Given the description of an element on the screen output the (x, y) to click on. 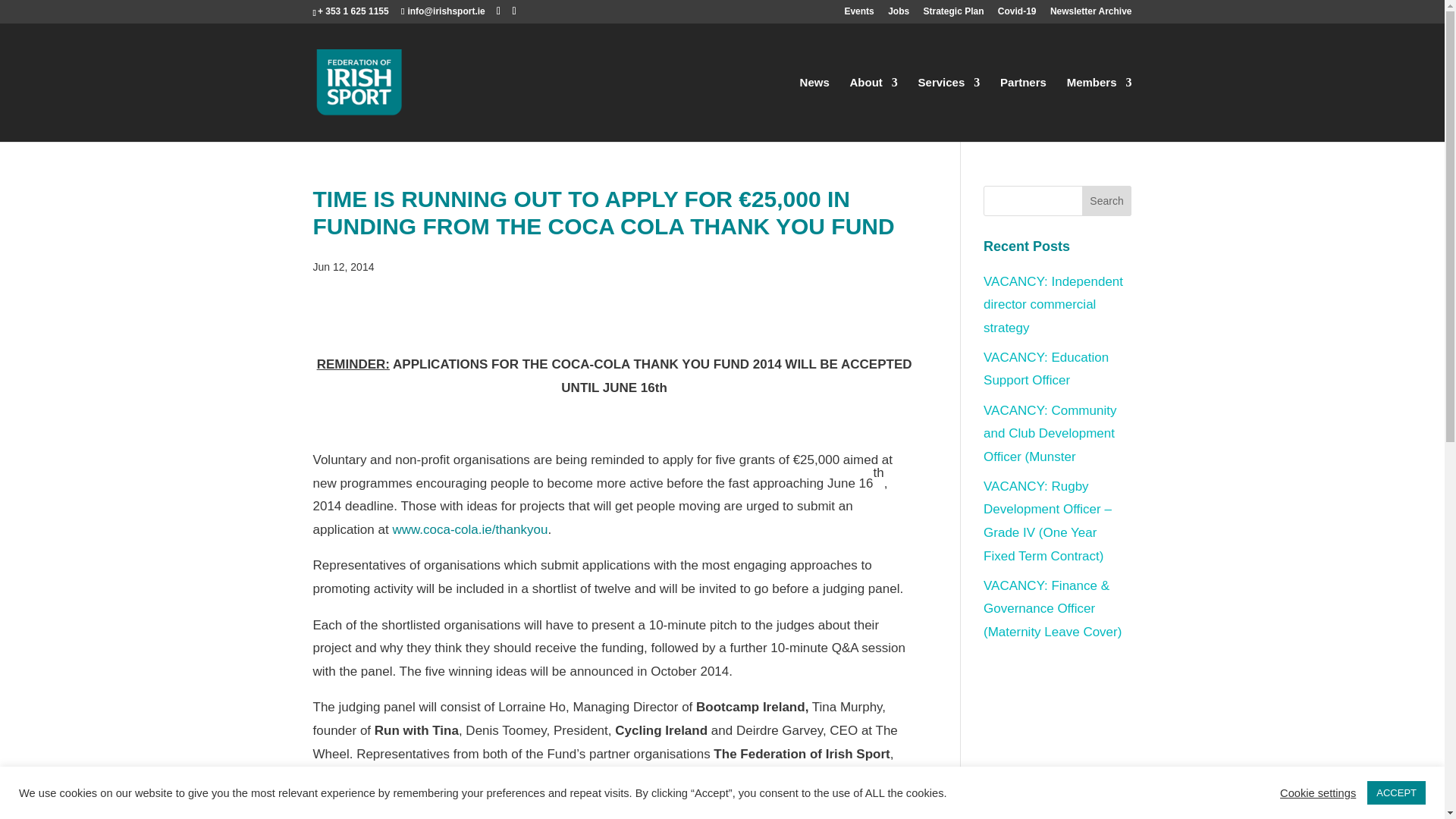
Members (1099, 108)
Events (858, 14)
Services (948, 108)
Newsletter Archive (1090, 14)
Strategic Plan (953, 14)
Covid-19 (1016, 14)
Search (1106, 200)
Jobs (898, 14)
